Given the description of an element on the screen output the (x, y) to click on. 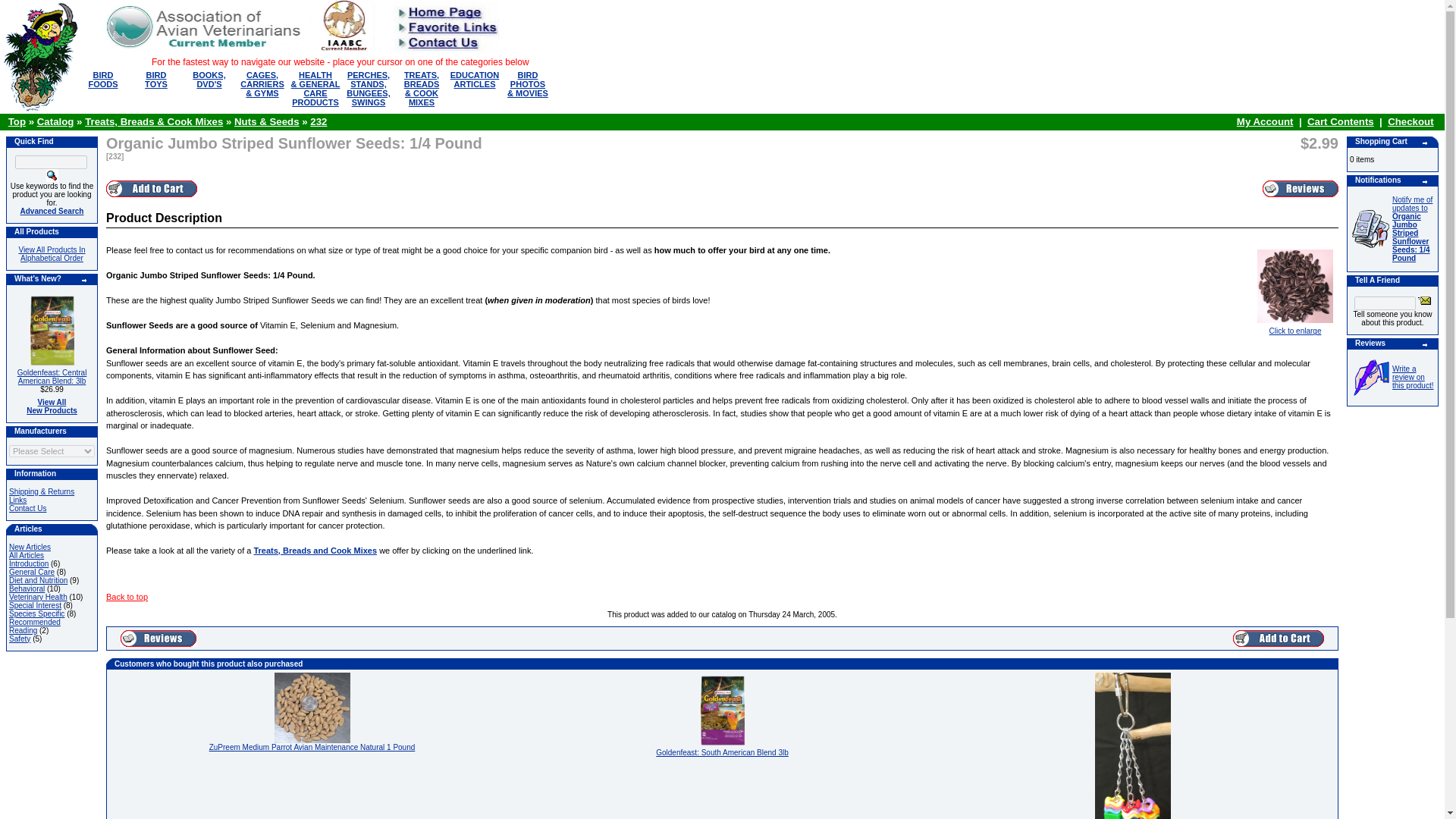
 Quick Find  (51, 174)
 Goldenfeast: Central American Blend: 3lb  (50, 330)
 more  (1425, 143)
 ZuPreem Medium Parrot Avian Maintenance Natural 1 Pound  (312, 707)
 Add to Cart  (151, 188)
 more  (103, 83)
 more  (1425, 181)
 Tell A Friend  (84, 280)
 Goldenfeast: South American Blend 3lb  (1424, 300)
 Add to Cart  (155, 83)
 Reviews  (722, 710)
 more  (1278, 638)
 Notifications  (1300, 188)
